Given the description of an element on the screen output the (x, y) to click on. 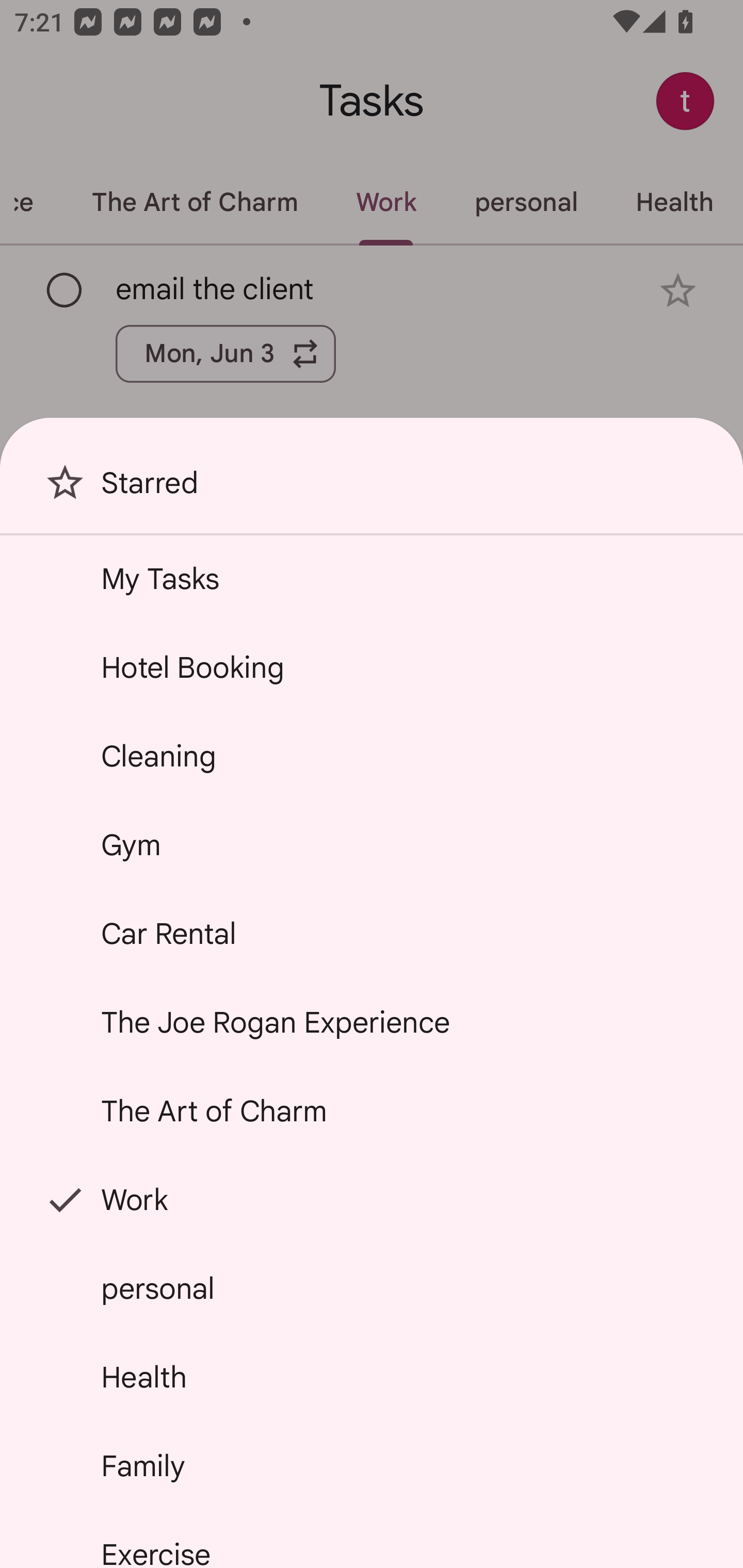
Starred (371, 489)
My Tasks (371, 578)
Hotel Booking (371, 667)
Cleaning (371, 756)
Gym (371, 844)
Car Rental (371, 933)
The Joe Rogan Experience (371, 1022)
The Art of Charm (371, 1110)
Work (371, 1200)
personal (371, 1287)
Health (371, 1377)
Family (371, 1465)
Exercise (371, 1539)
